Given the description of an element on the screen output the (x, y) to click on. 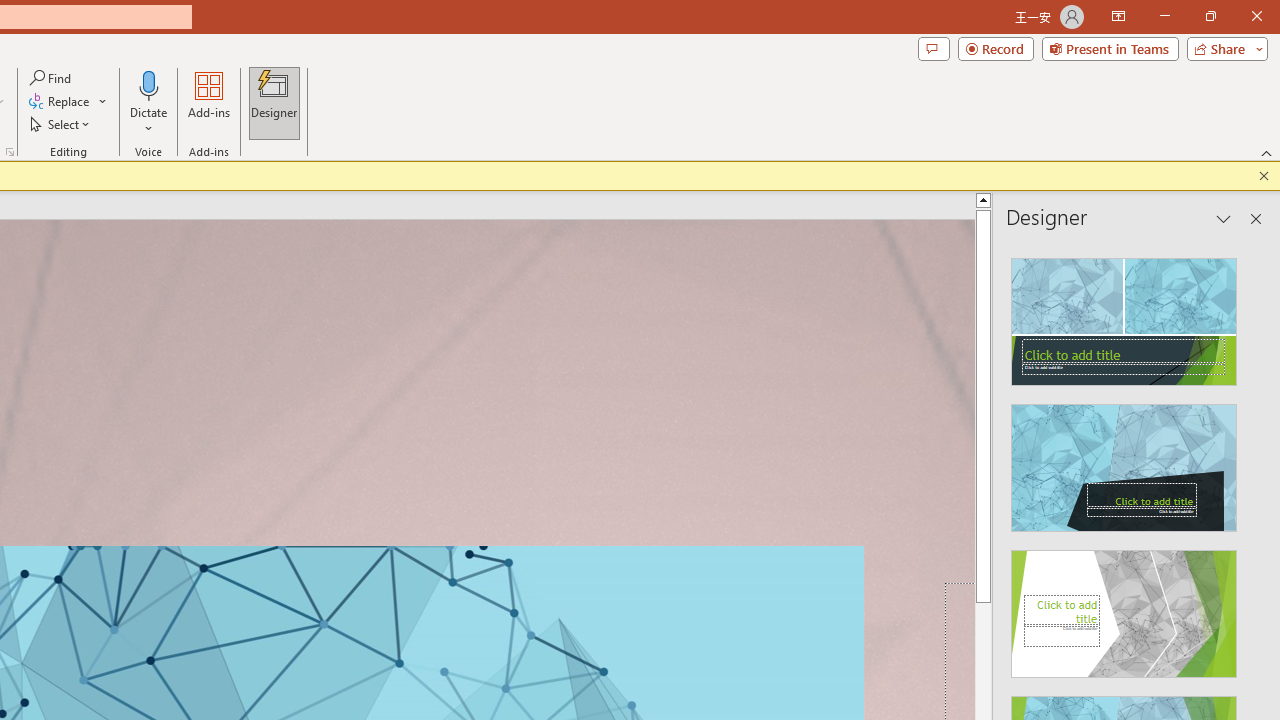
Recommended Design: Design Idea (1124, 315)
Close this message (1263, 176)
